Given the description of an element on the screen output the (x, y) to click on. 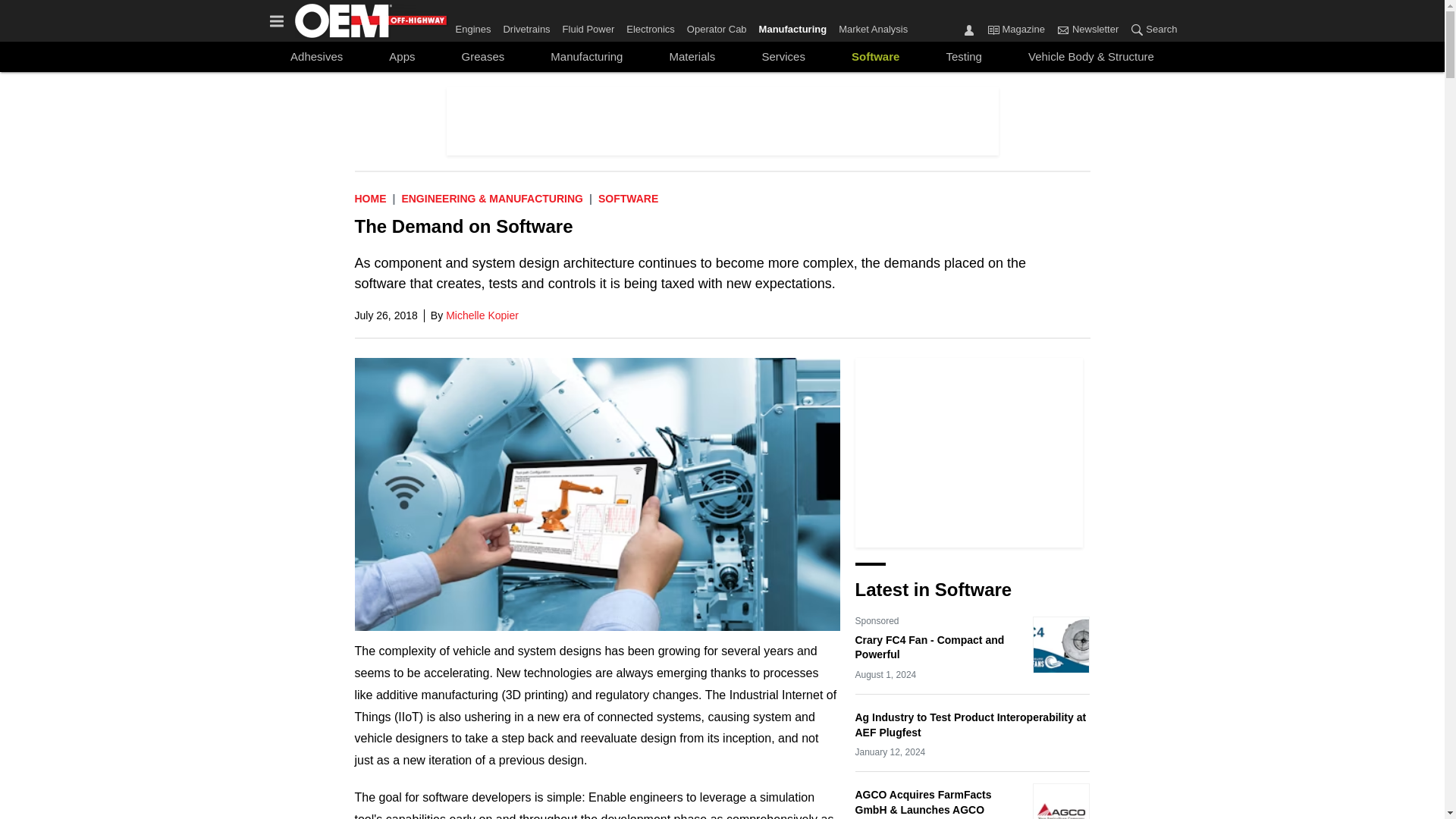
Adhesives (316, 56)
Materials (692, 56)
Newsletter (1087, 29)
Services (783, 56)
Apps (402, 56)
Magazine (992, 29)
Sign In (968, 29)
Drivetrains (526, 26)
Search (1136, 29)
Engines (475, 26)
